Given the description of an element on the screen output the (x, y) to click on. 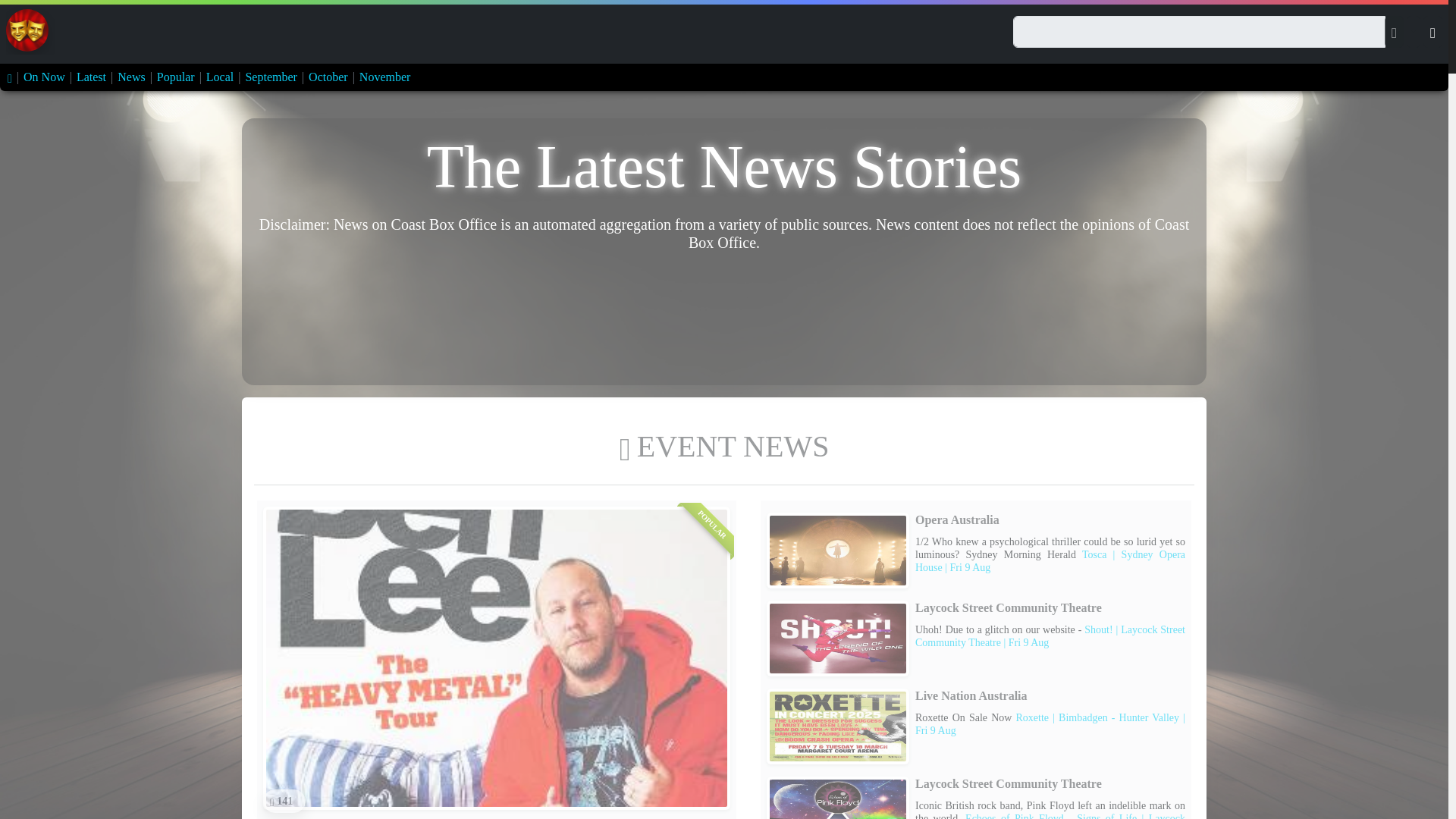
Latest (91, 76)
Popular (175, 76)
Live Nation Australia (837, 726)
On Now (43, 76)
141 (284, 801)
September (270, 76)
November (385, 76)
Laycock Street Community Theatre (837, 797)
Laycock Street Community Theatre (837, 638)
